Given the description of an element on the screen output the (x, y) to click on. 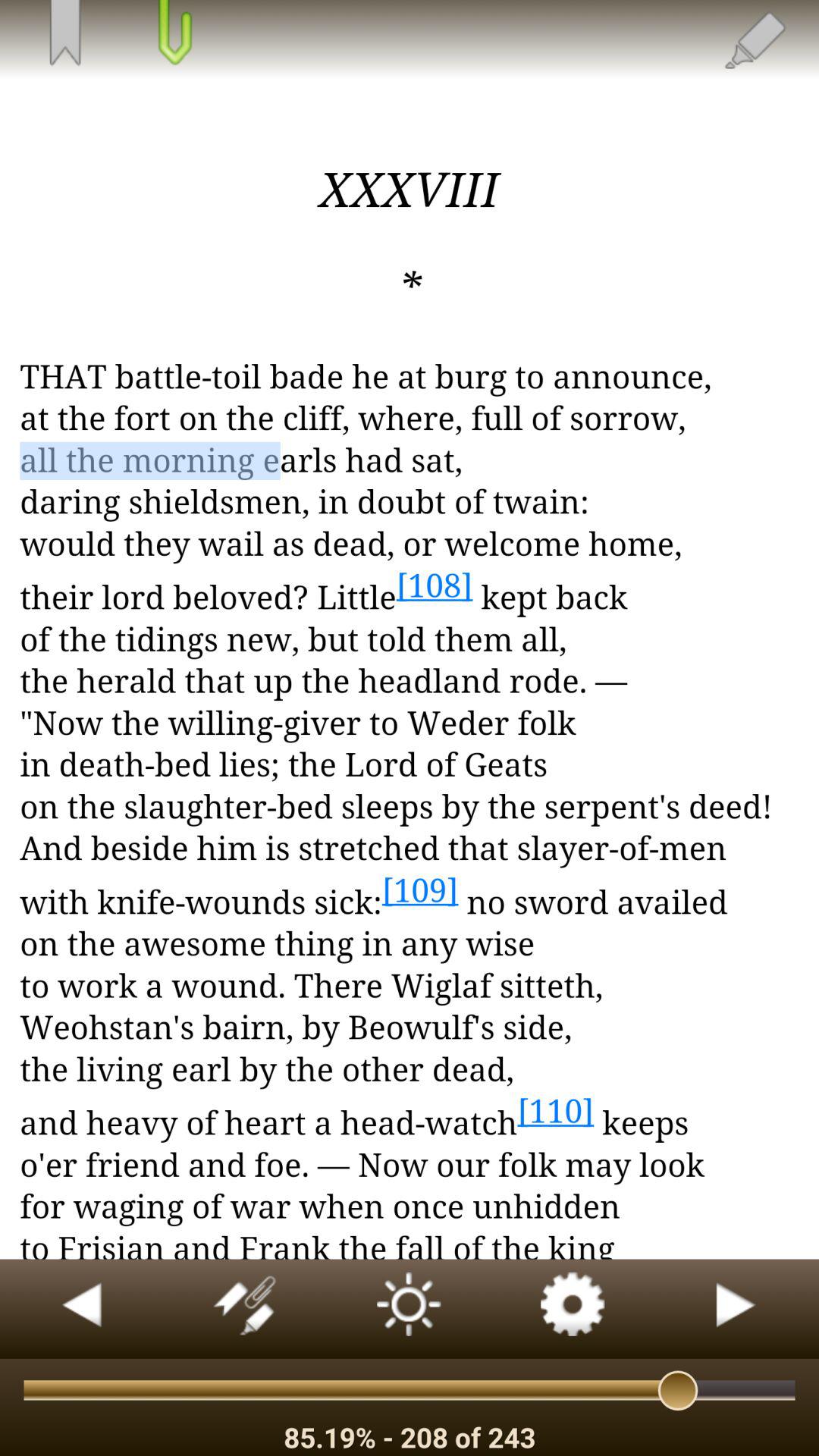
go to next page (737, 1308)
